Given the description of an element on the screen output the (x, y) to click on. 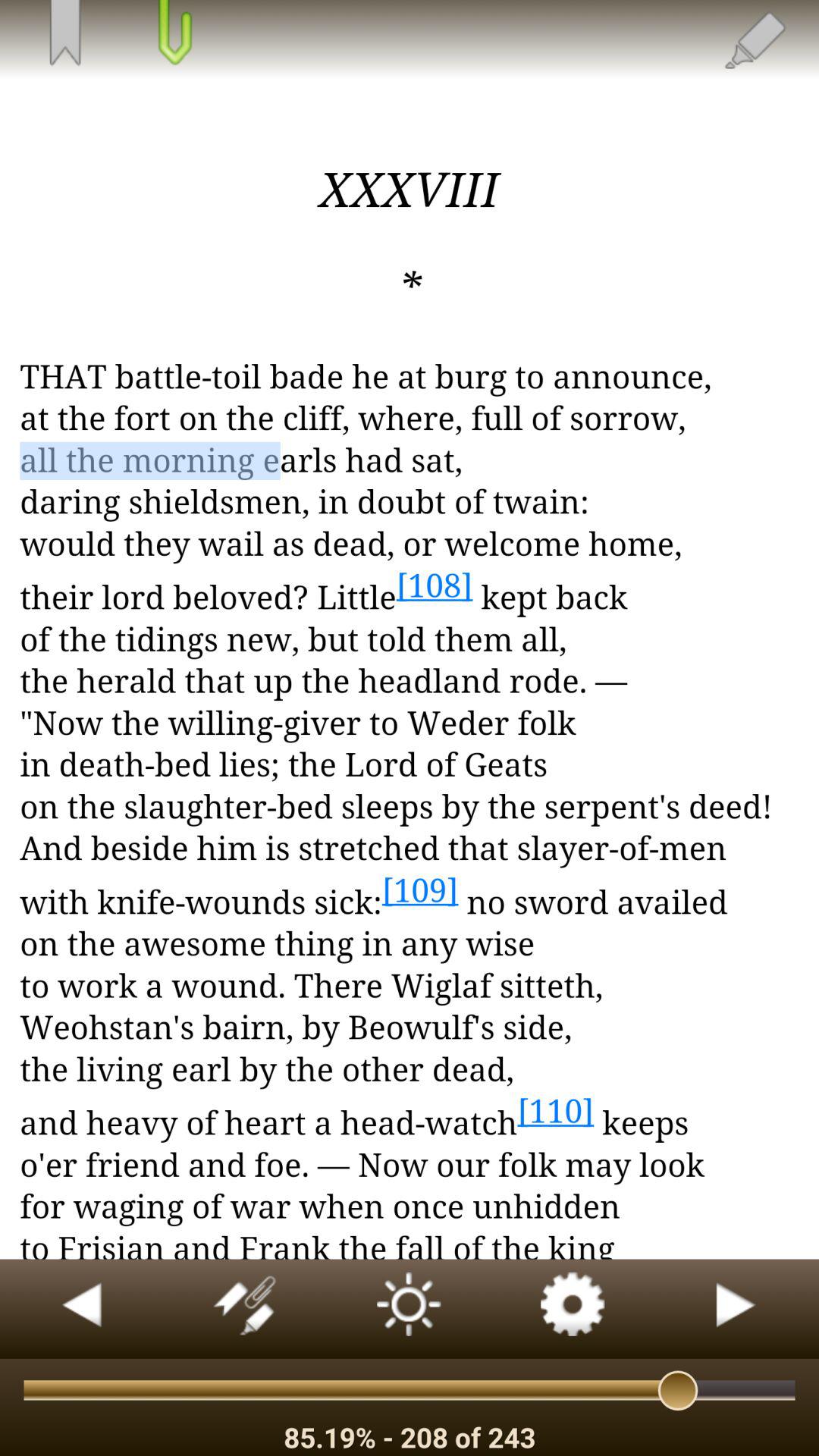
go to next page (737, 1308)
